Given the description of an element on the screen output the (x, y) to click on. 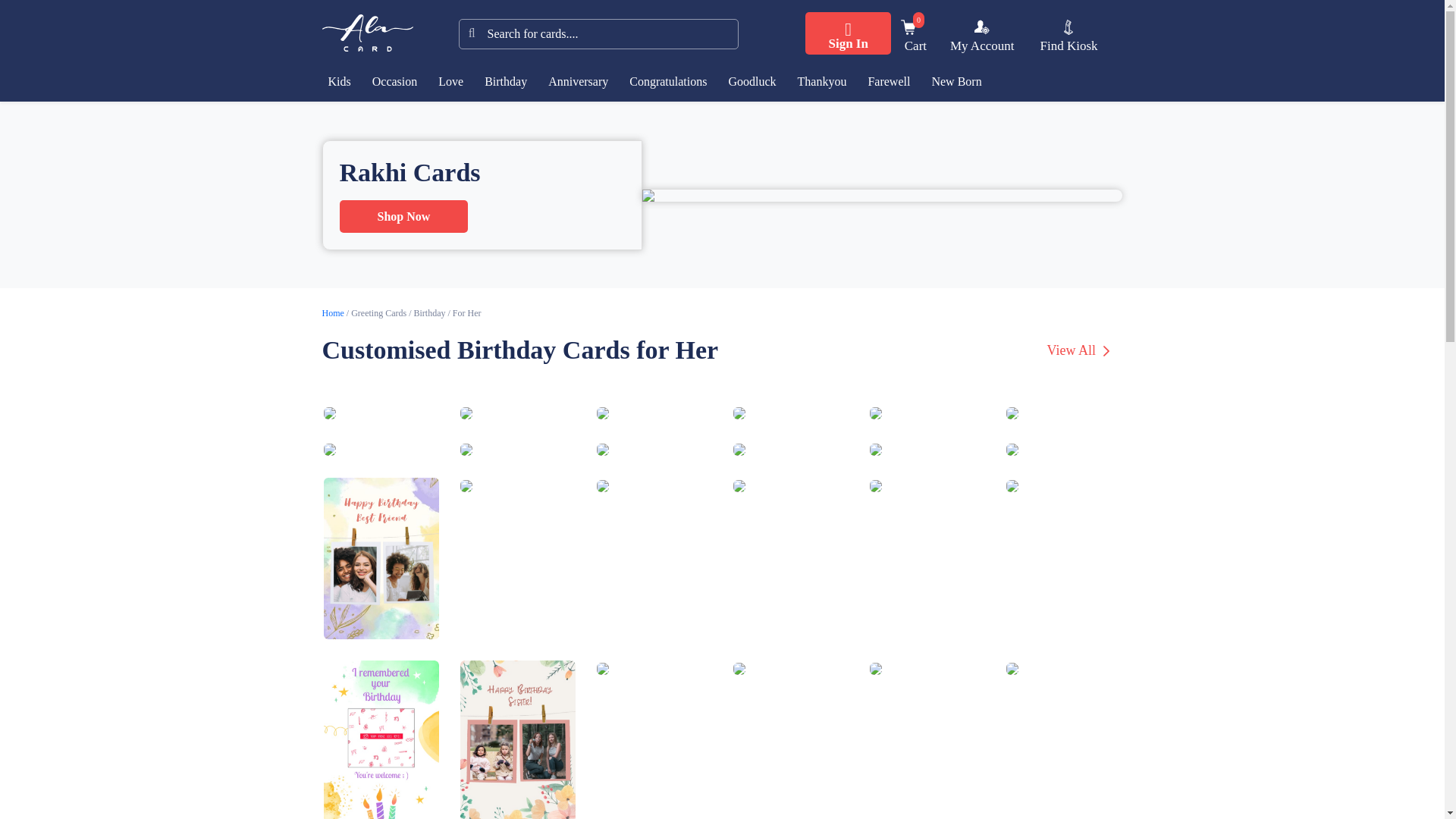
Kiosk Locator (1068, 27)
My Account (982, 37)
Find Kiosk (1067, 37)
Birthday (510, 81)
Kids (343, 81)
Sign In (847, 33)
Occasion (915, 37)
Cart (399, 81)
My Account (908, 27)
Love (982, 27)
